Given the description of an element on the screen output the (x, y) to click on. 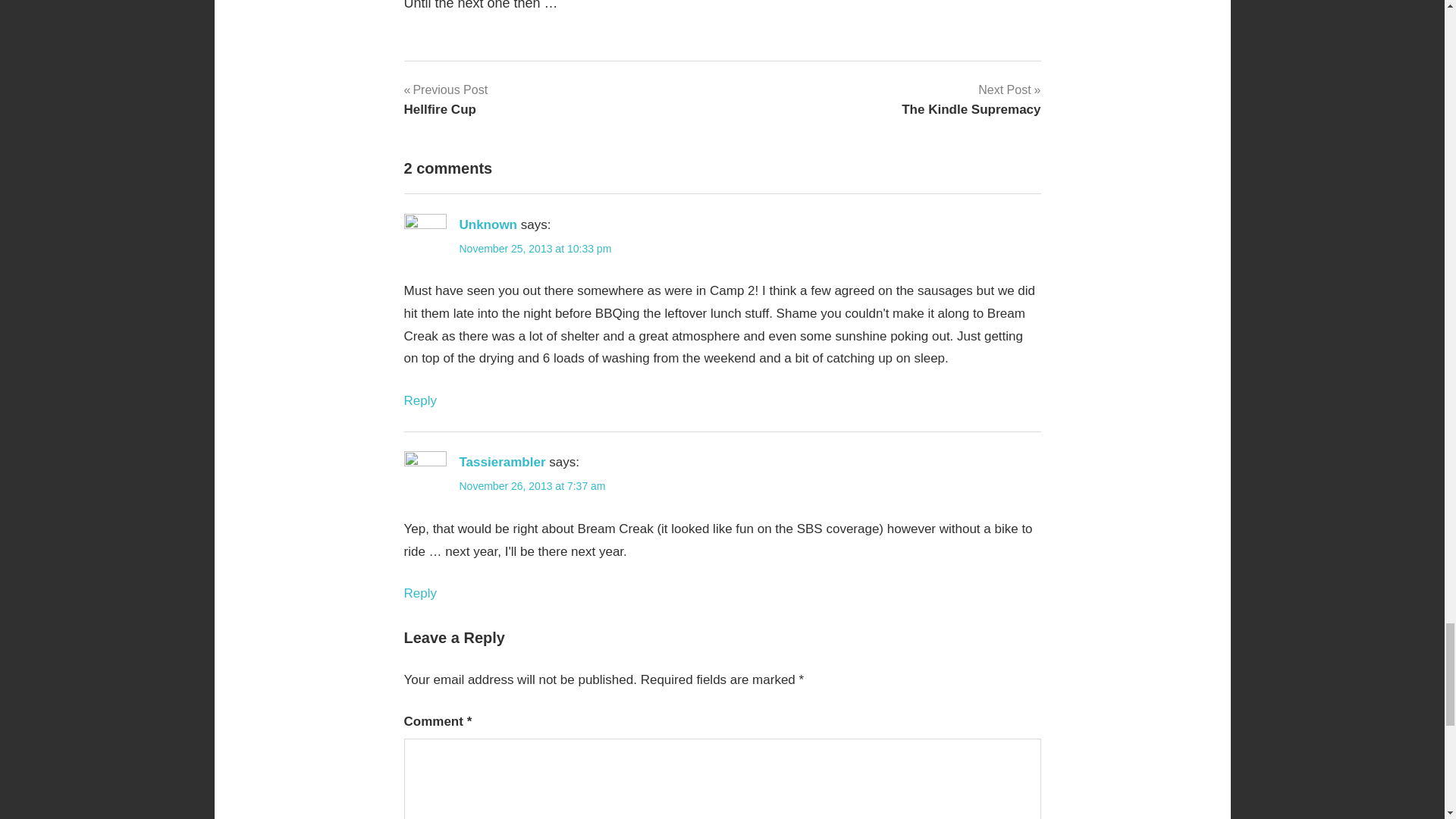
Reply (971, 98)
Unknown (419, 593)
Reply (489, 224)
November 25, 2013 at 10:33 pm (445, 98)
November 26, 2013 at 7:37 am (419, 400)
Tassierambler (535, 248)
